Given the description of an element on the screen output the (x, y) to click on. 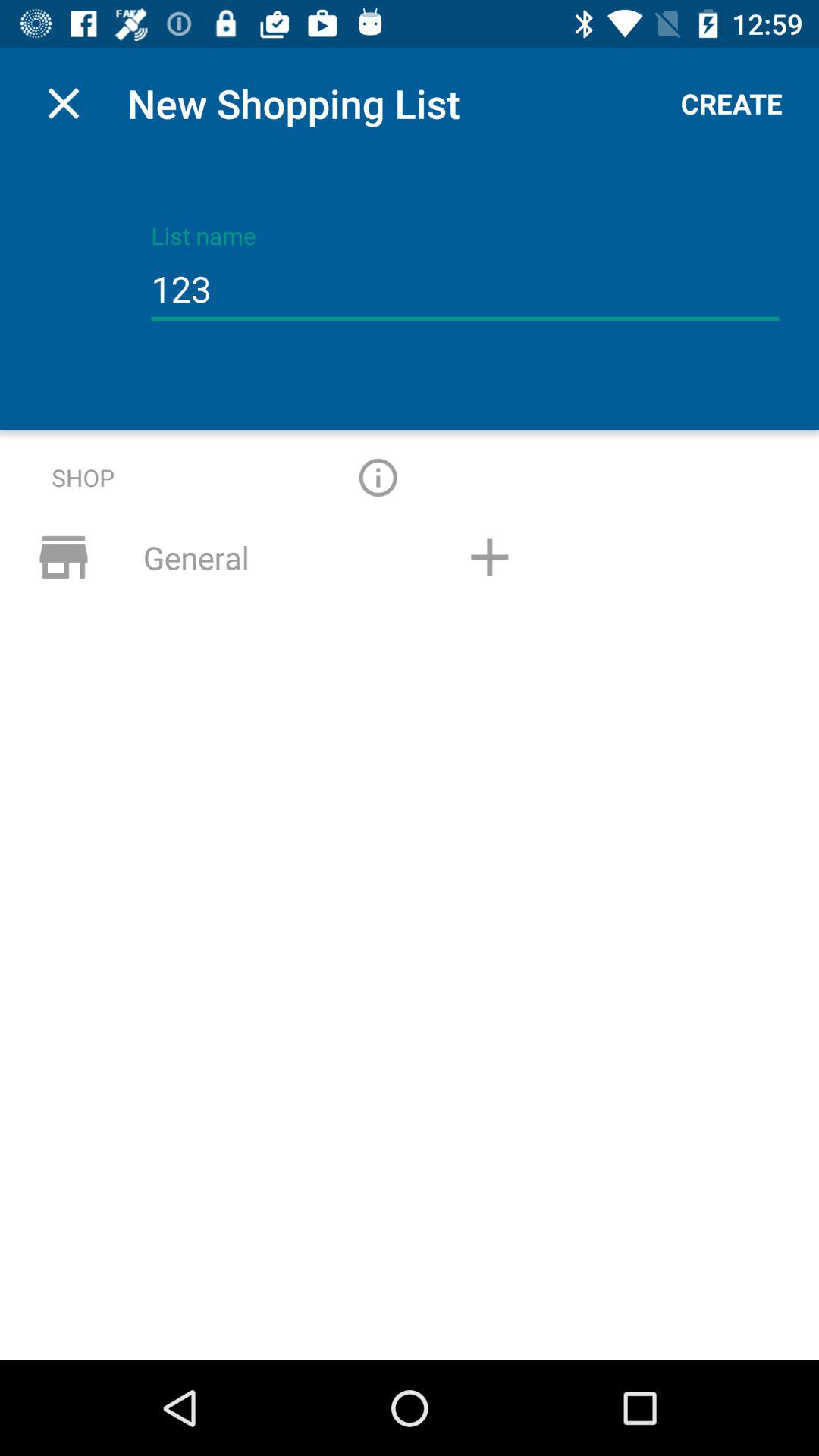
add adress (489, 557)
